Given the description of an element on the screen output the (x, y) to click on. 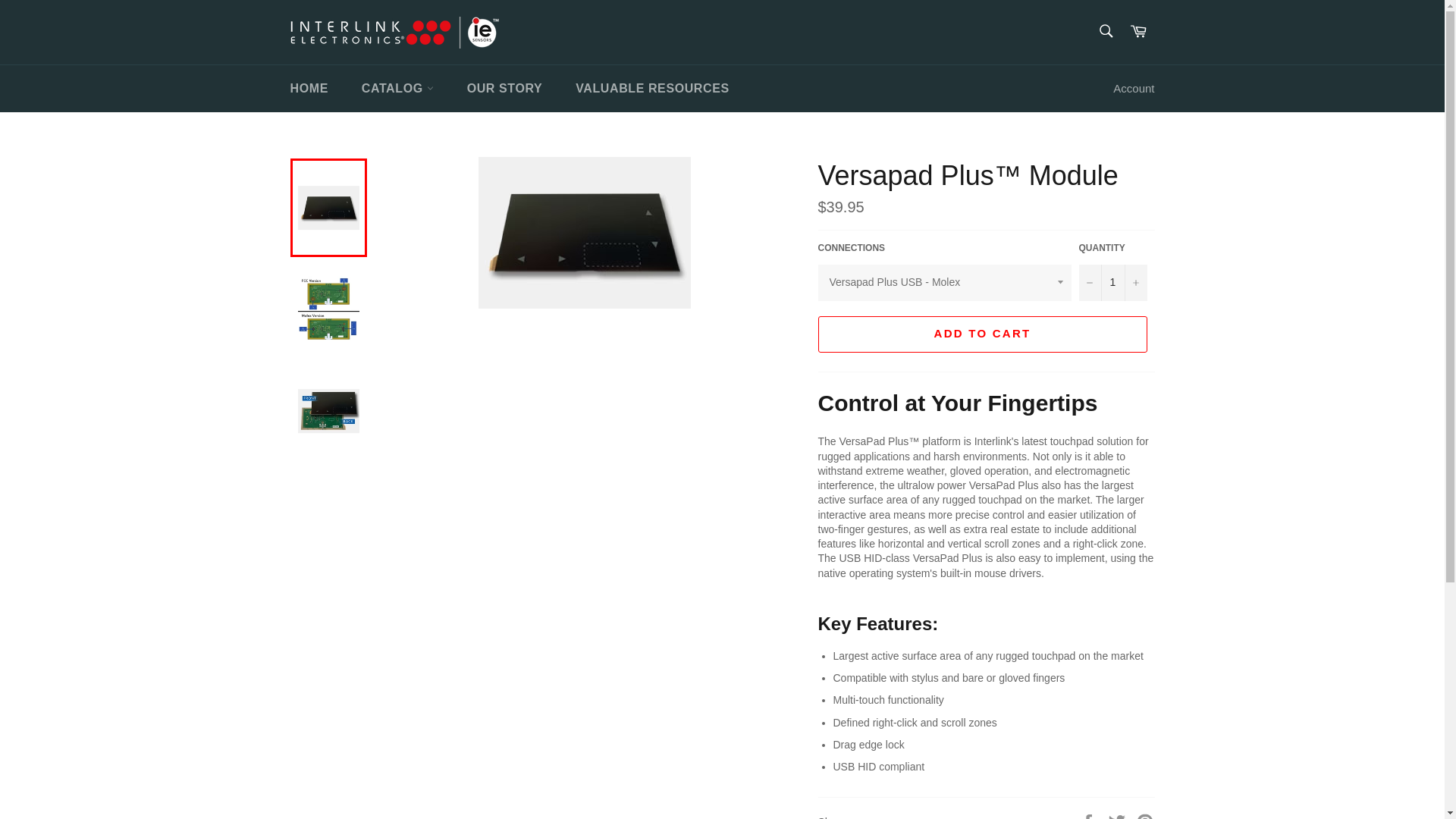
CATALOG (397, 88)
Share on Facebook (1089, 816)
1 (1112, 282)
Tweet on Twitter (1118, 816)
Search (1104, 30)
OUR STORY (504, 88)
VALUABLE RESOURCES (652, 88)
Account (1133, 89)
HOME (308, 88)
Pin on Pinterest (1144, 816)
